Given the description of an element on the screen output the (x, y) to click on. 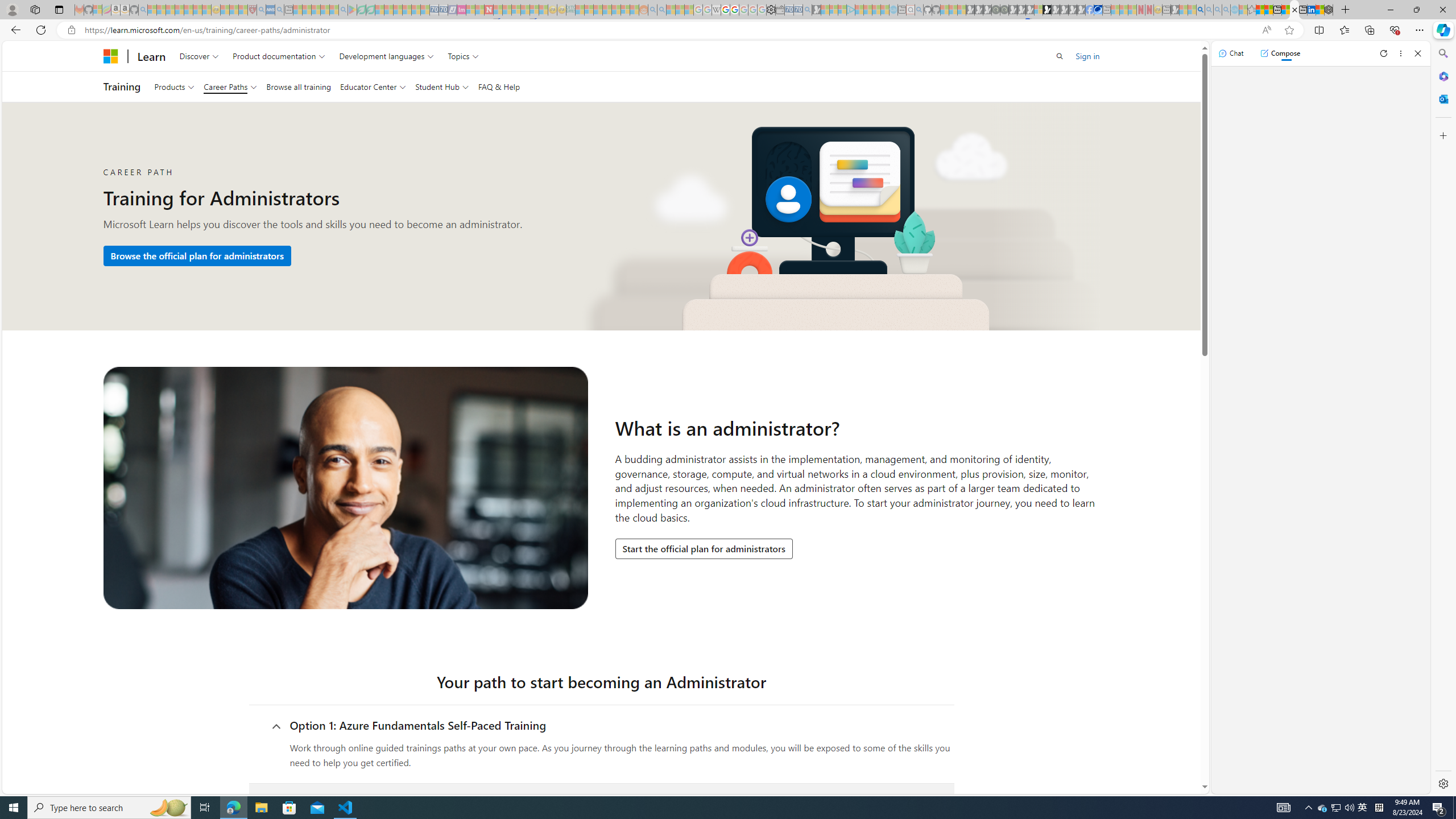
Student Hub (441, 86)
The Weather Channel - MSN - Sleeping (170, 9)
Career Paths (230, 86)
Microsoft-Report a Concern to Bing - Sleeping (97, 9)
Privacy Help Center - Policies Help (725, 9)
